Given the description of an element on the screen output the (x, y) to click on. 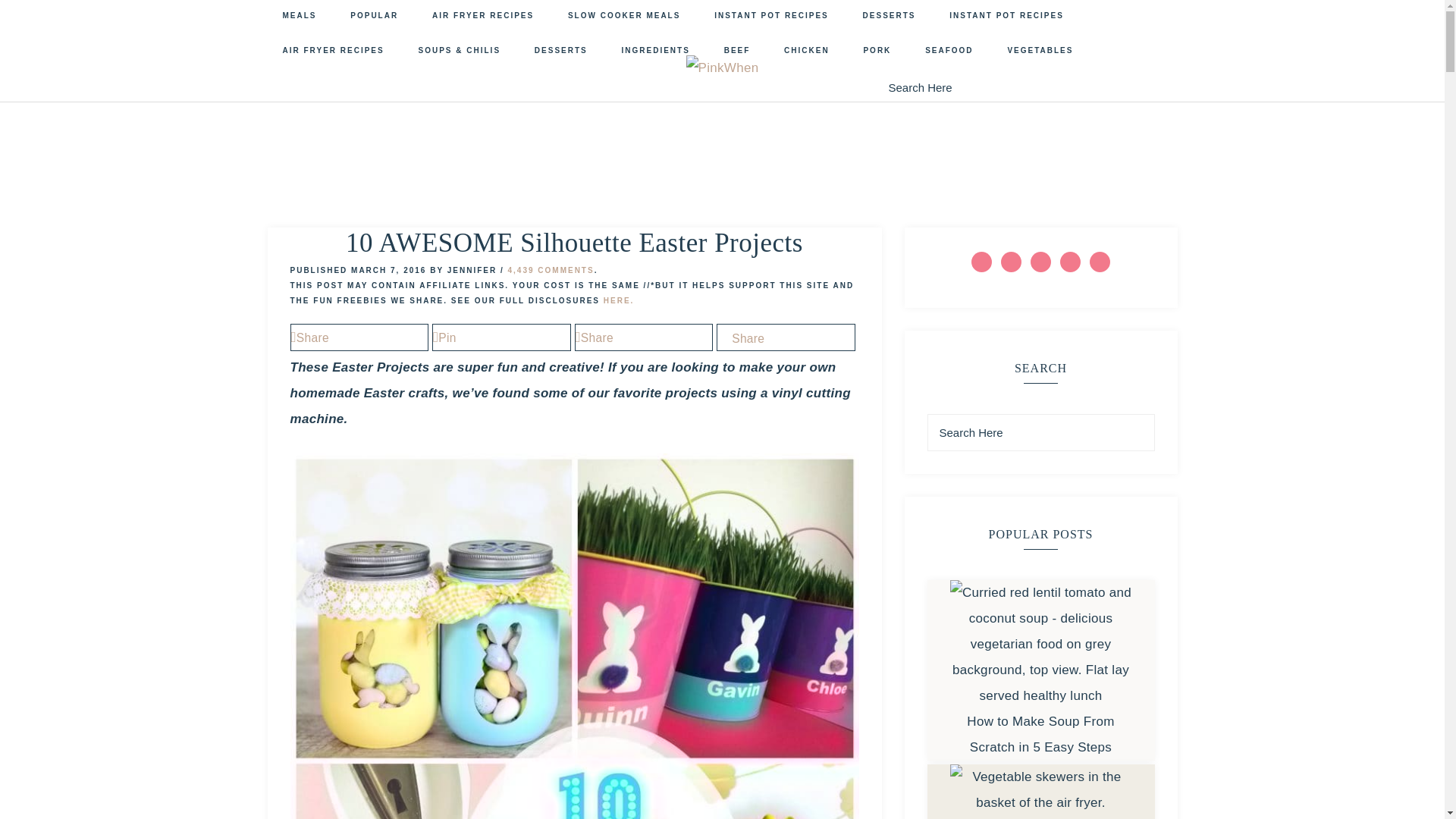
PORK (876, 52)
INSTANT POT RECIPES (1006, 17)
INSTANT POT RECIPES (771, 17)
SLOW COOKER MEALS (624, 17)
CHICKEN (806, 52)
AIR FRYER RECIPES (482, 17)
BEEF (737, 52)
DESSERTS (889, 17)
MEALS (298, 17)
AIR FRYER RECIPES (332, 52)
